Given the description of an element on the screen output the (x, y) to click on. 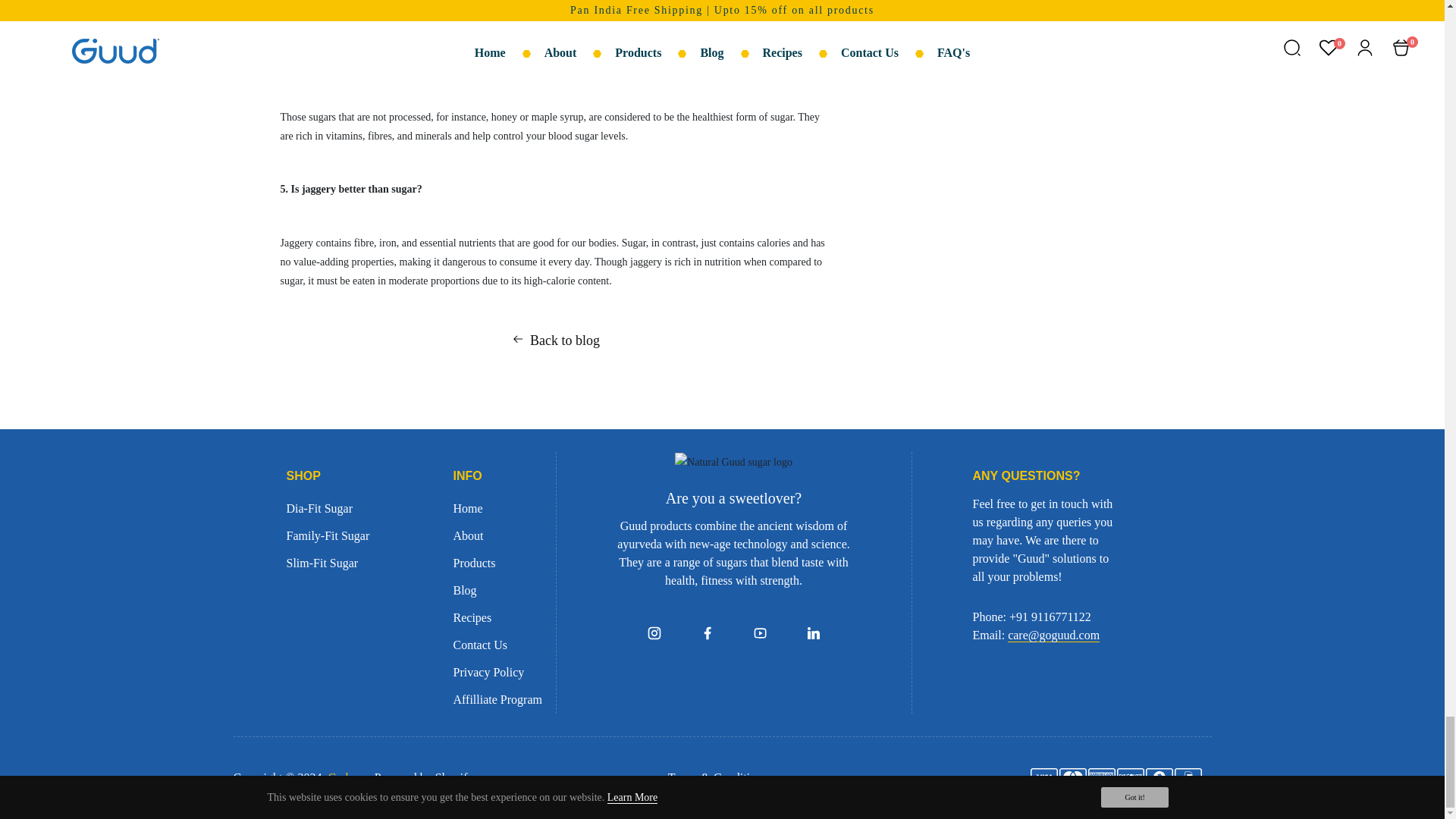
instagram (653, 632)
youtube (759, 632)
linkedin (812, 632)
facebook (706, 632)
